Given the description of an element on the screen output the (x, y) to click on. 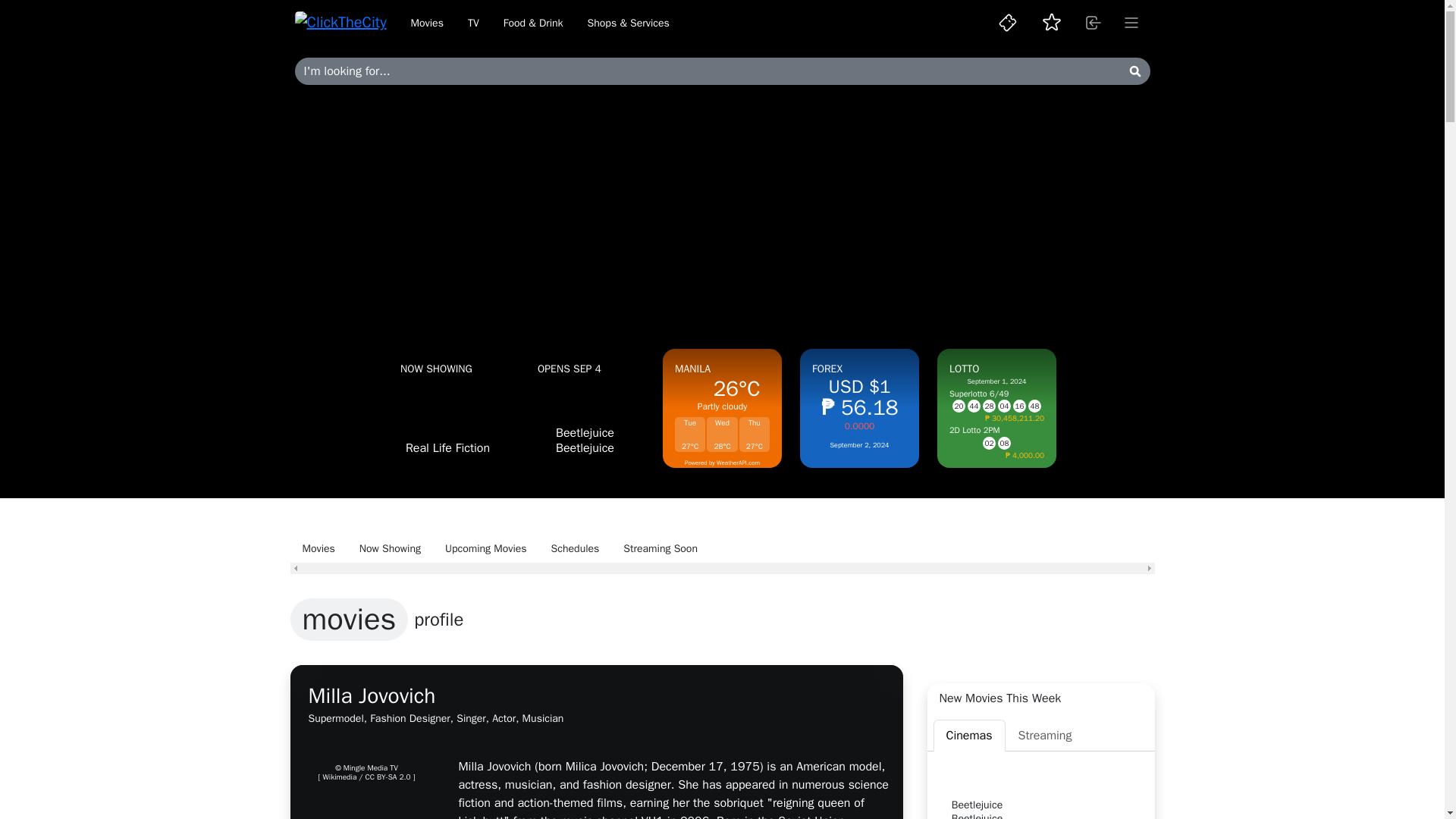
TV (473, 22)
Weather API (738, 462)
Movies (426, 22)
